Given the description of an element on the screen output the (x, y) to click on. 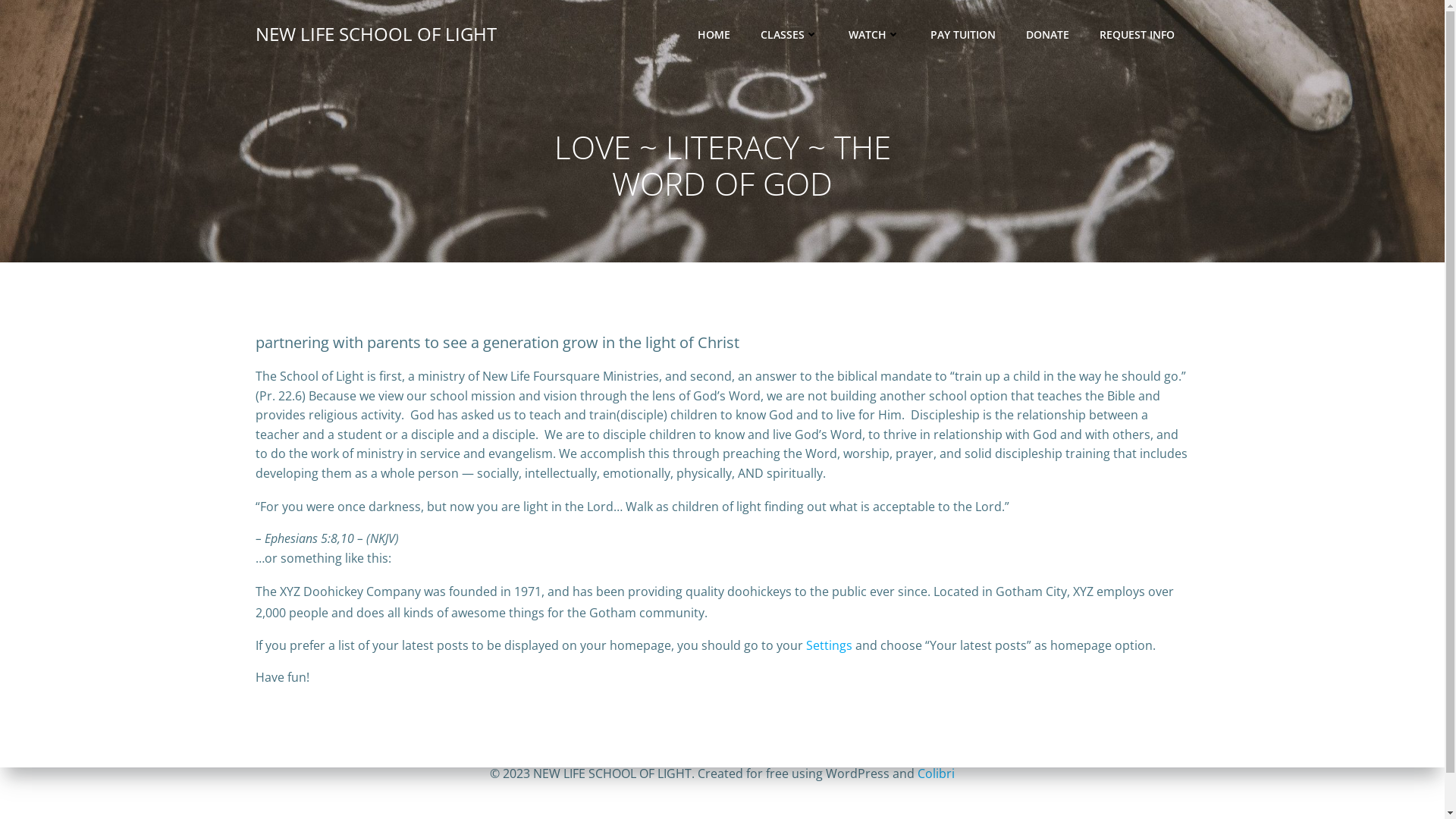
NEW LIFE SCHOOL OF LIGHT Element type: text (374, 33)
CLASSES Element type: text (788, 33)
PAY TUITION Element type: text (961, 33)
HOME Element type: text (713, 33)
Colibri Element type: text (935, 773)
DONATE Element type: text (1046, 33)
REQUEST INFO Element type: text (1136, 33)
Settings Element type: text (828, 645)
WATCH Element type: text (873, 33)
